Given the description of an element on the screen output the (x, y) to click on. 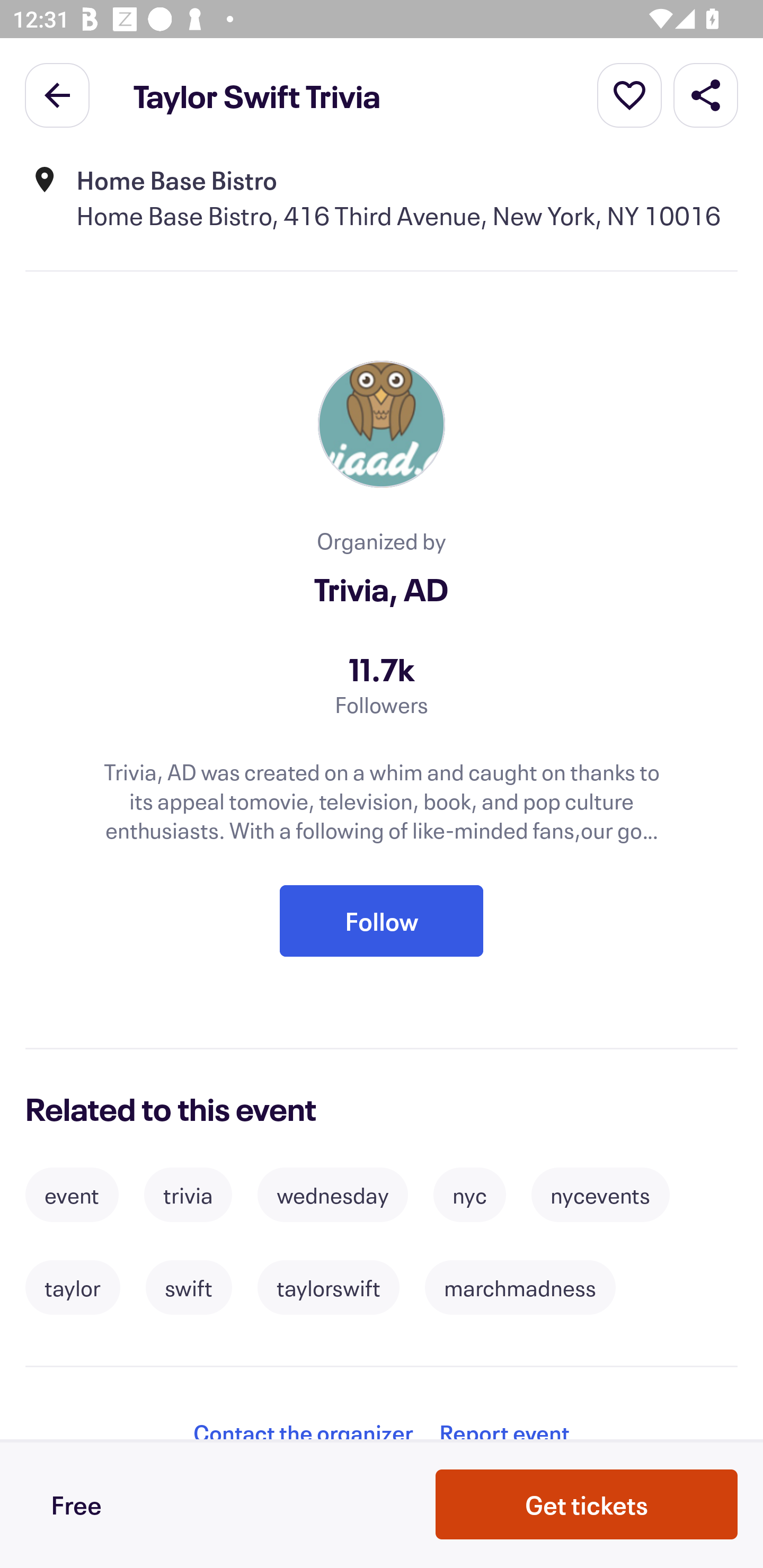
Back (57, 94)
More (629, 94)
Share (705, 94)
Organizer profile picture (381, 423)
Trivia, AD (381, 588)
Follow (381, 920)
event (72, 1194)
trivia (187, 1194)
wednesday (332, 1194)
nyc (469, 1194)
nycevents (600, 1194)
taylor (72, 1287)
swift (188, 1287)
taylorswift (328, 1287)
marchmadness (519, 1287)
Get tickets (586, 1504)
